Given the description of an element on the screen output the (x, y) to click on. 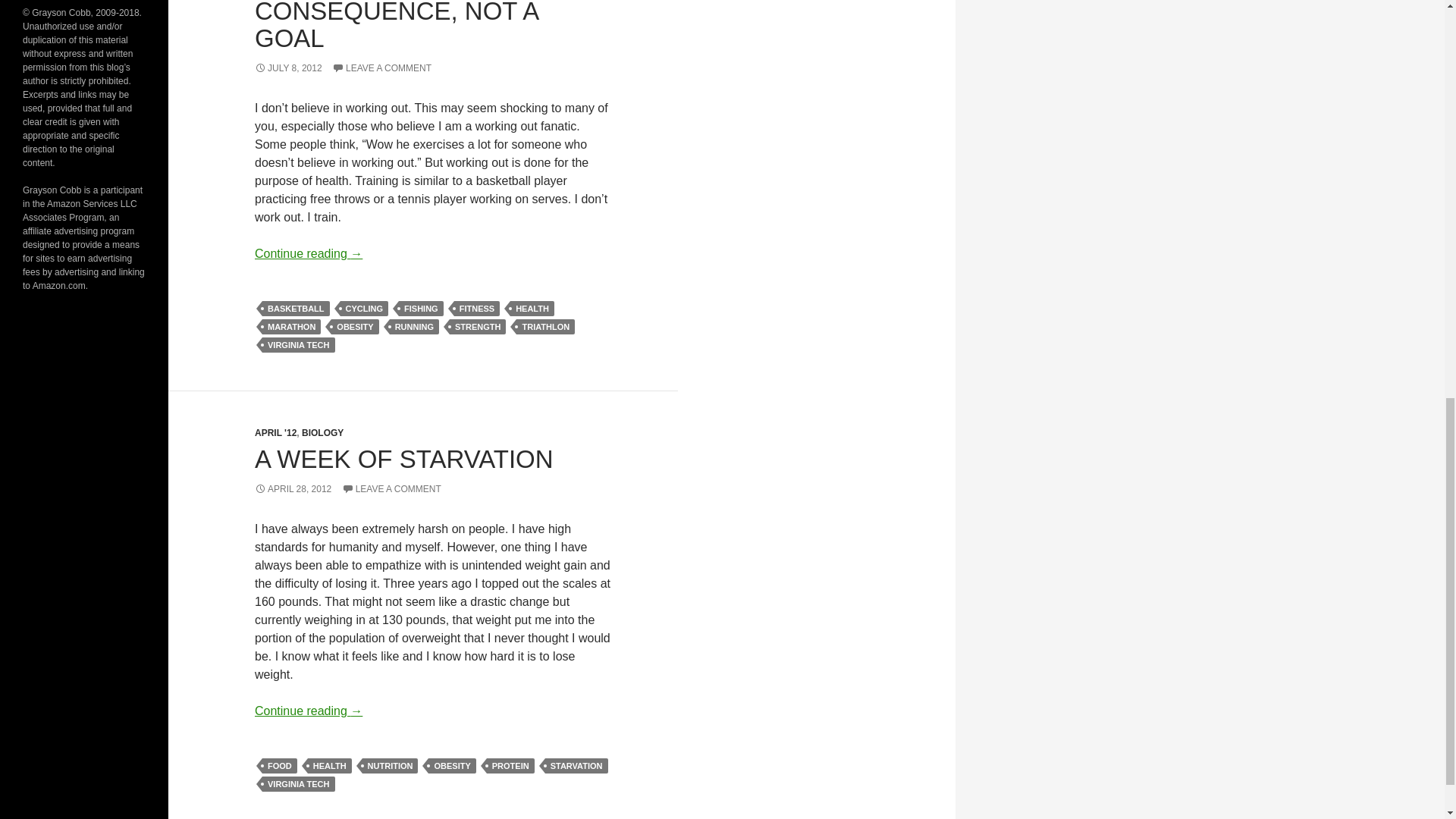
LEAVE A COMMENT (380, 68)
FITNESS AS A CONSEQUENCE, NOT A GOAL (395, 26)
JULY 8, 2012 (287, 68)
